Given the description of an element on the screen output the (x, y) to click on. 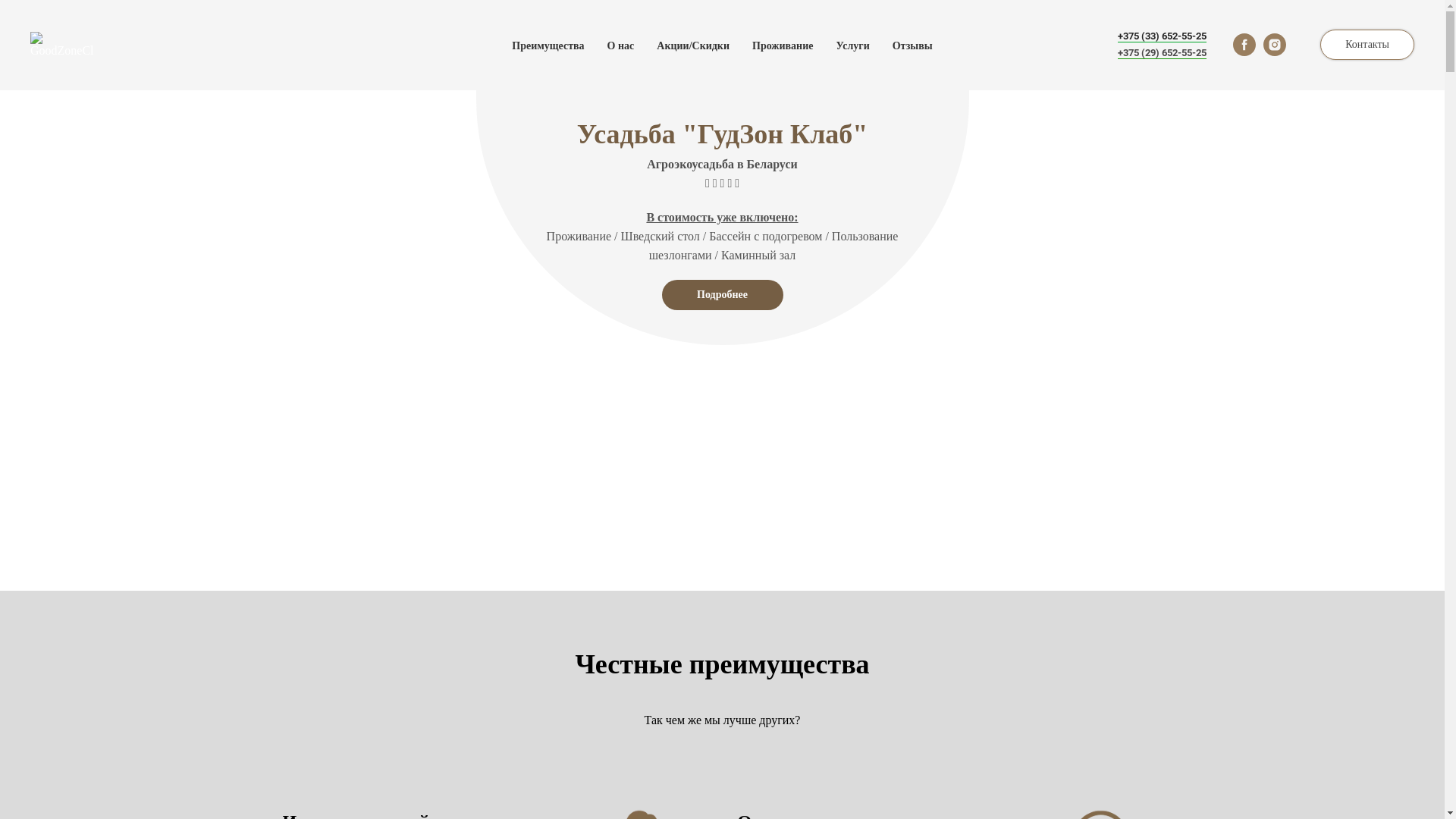
+375 (29) 652-55-25 Element type: text (1161, 53)
+375 (33) 652-55-25 Element type: text (1161, 36)
